Given the description of an element on the screen output the (x, y) to click on. 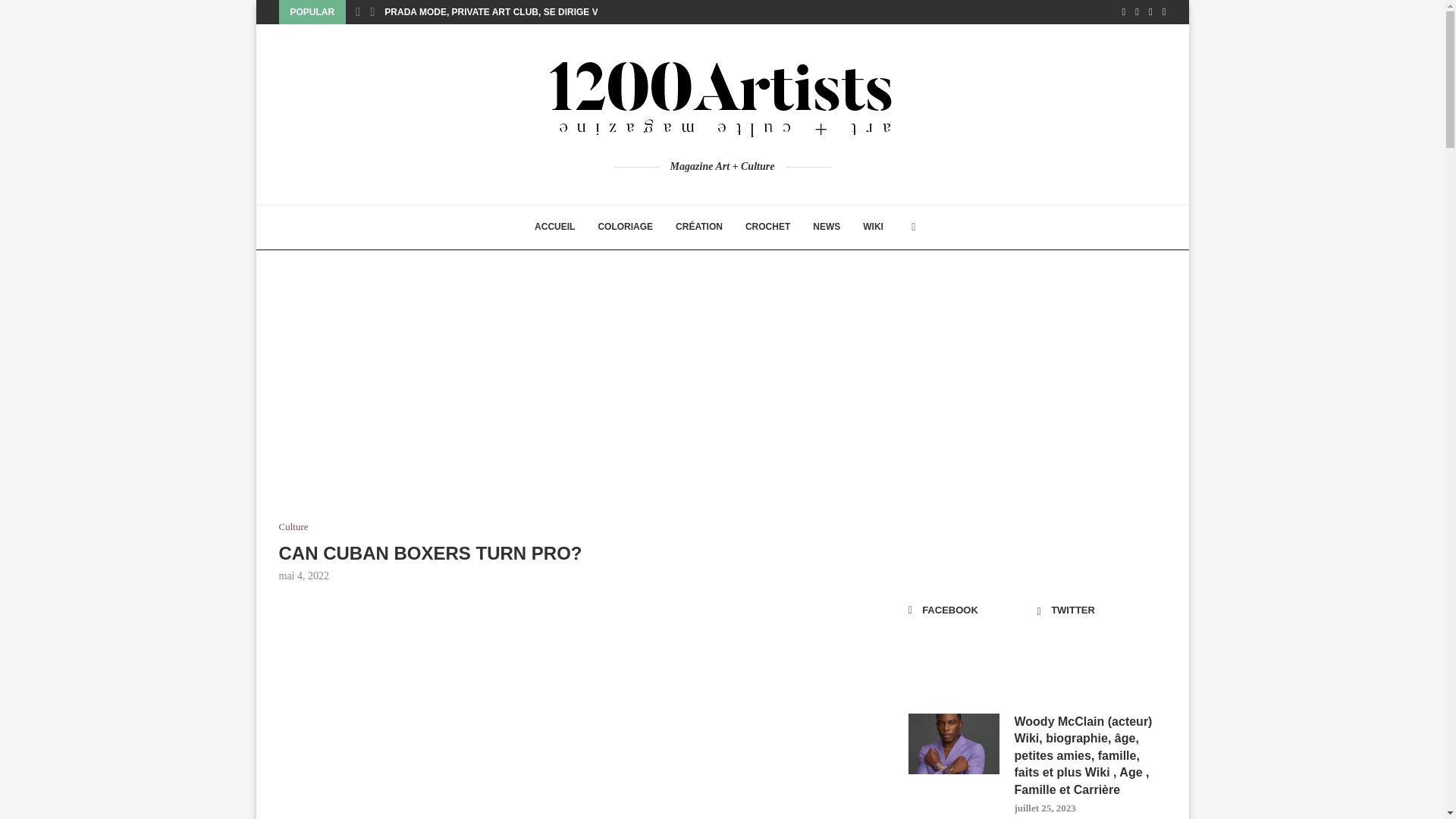
Advertisement (574, 408)
Culture (293, 526)
ACCUEIL (554, 227)
Advertisement (574, 713)
PRADA MODE, PRIVATE ART CLUB, SE DIRIGE VERS... (504, 12)
NEWS (826, 227)
CROCHET (767, 227)
COLORIAGE (624, 227)
Advertisement (1037, 408)
WIKI (873, 227)
